Given the description of an element on the screen output the (x, y) to click on. 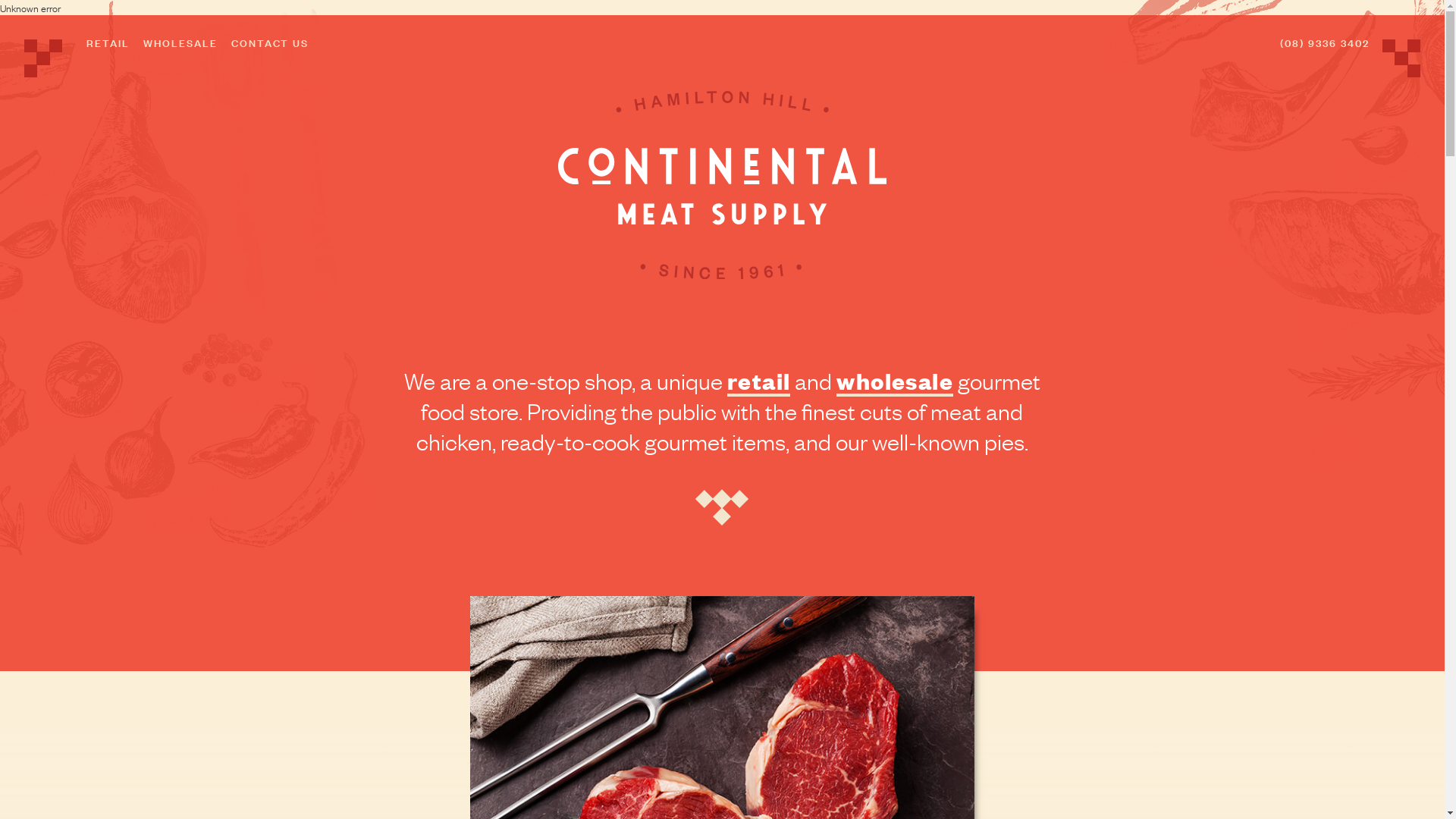
wholesale Element type: text (894, 379)
(08) 9336 3402 Element type: text (1324, 42)
WHOLESALE Element type: text (180, 42)
RETAIL Element type: text (107, 42)
CONTACT US Element type: text (269, 42)
retail Element type: text (758, 379)
